Given the description of an element on the screen output the (x, y) to click on. 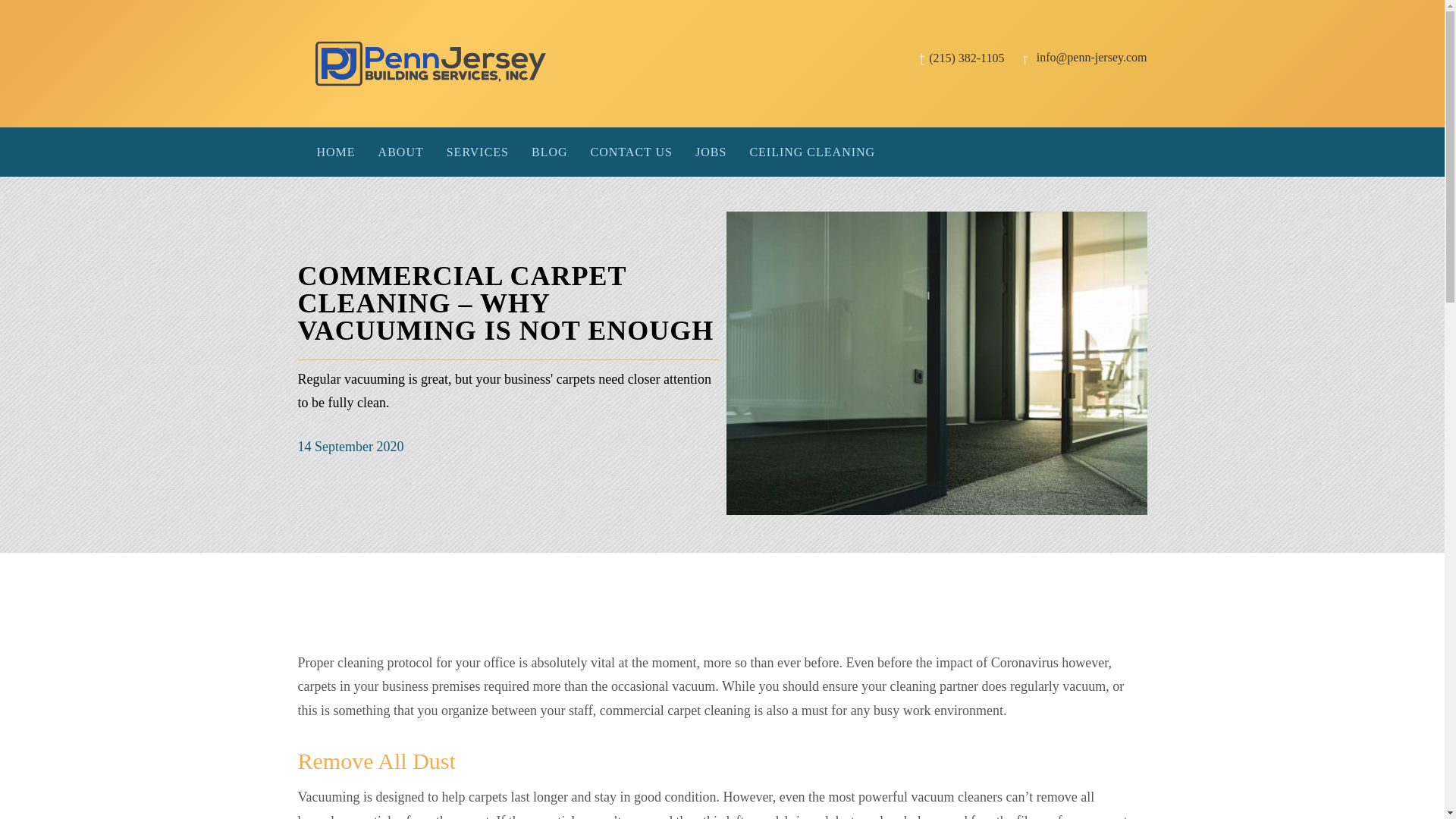
Cleaning Jobs Philadelphia (711, 152)
Building Services (477, 152)
CONTACT US (631, 152)
Blog (549, 152)
About (400, 152)
ABOUT (400, 152)
Contact Us (631, 152)
BLOG (549, 152)
Commercial Ceiling Cleaning (812, 152)
JOBS (711, 152)
